Given the description of an element on the screen output the (x, y) to click on. 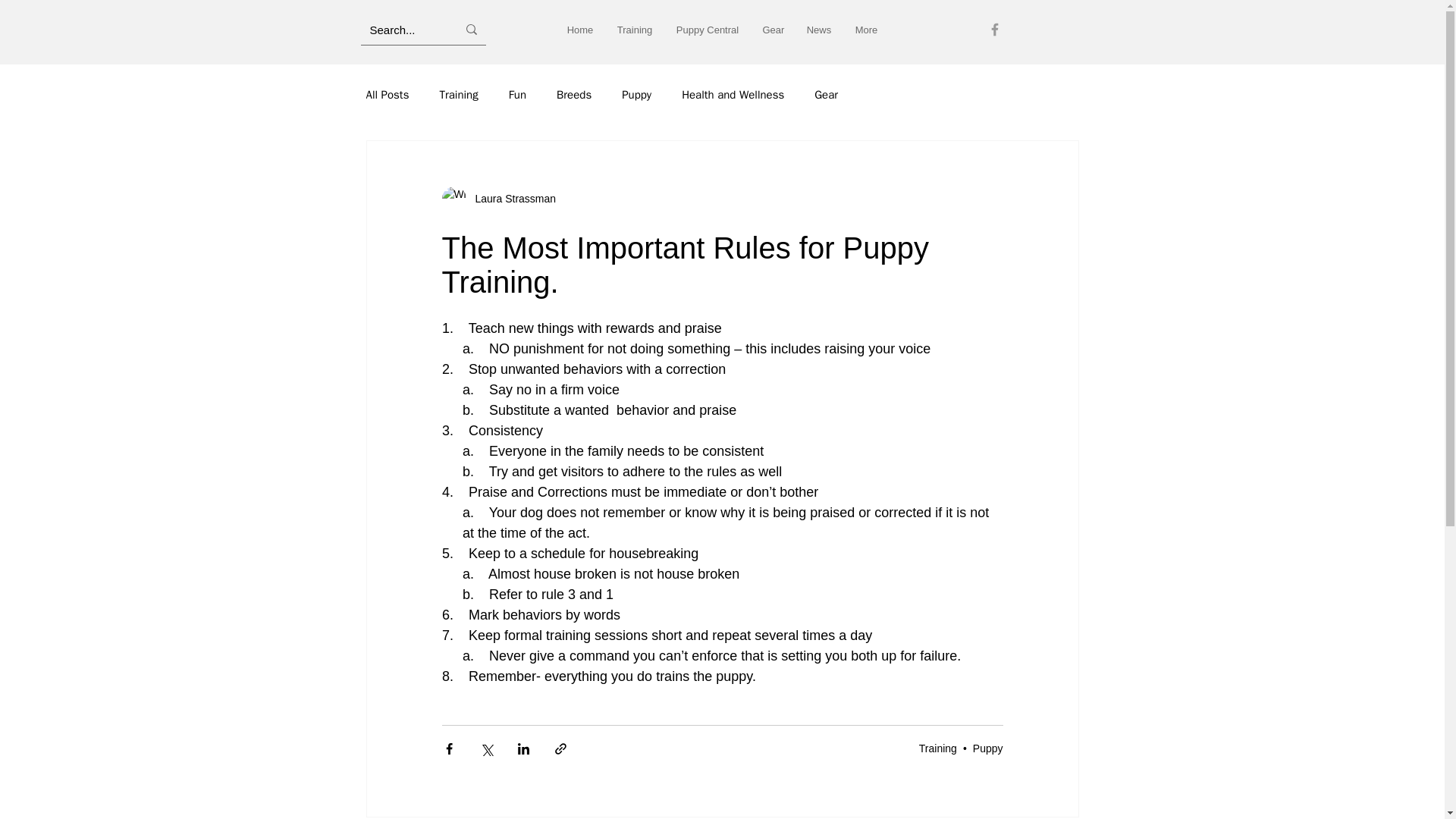
Breeds (573, 94)
Puppy (635, 94)
Home (579, 29)
All Posts (387, 94)
Health and Wellness (732, 94)
Puppy (987, 747)
News (818, 29)
Laura Strassman (510, 198)
Training (458, 94)
Training (634, 29)
